Given the description of an element on the screen output the (x, y) to click on. 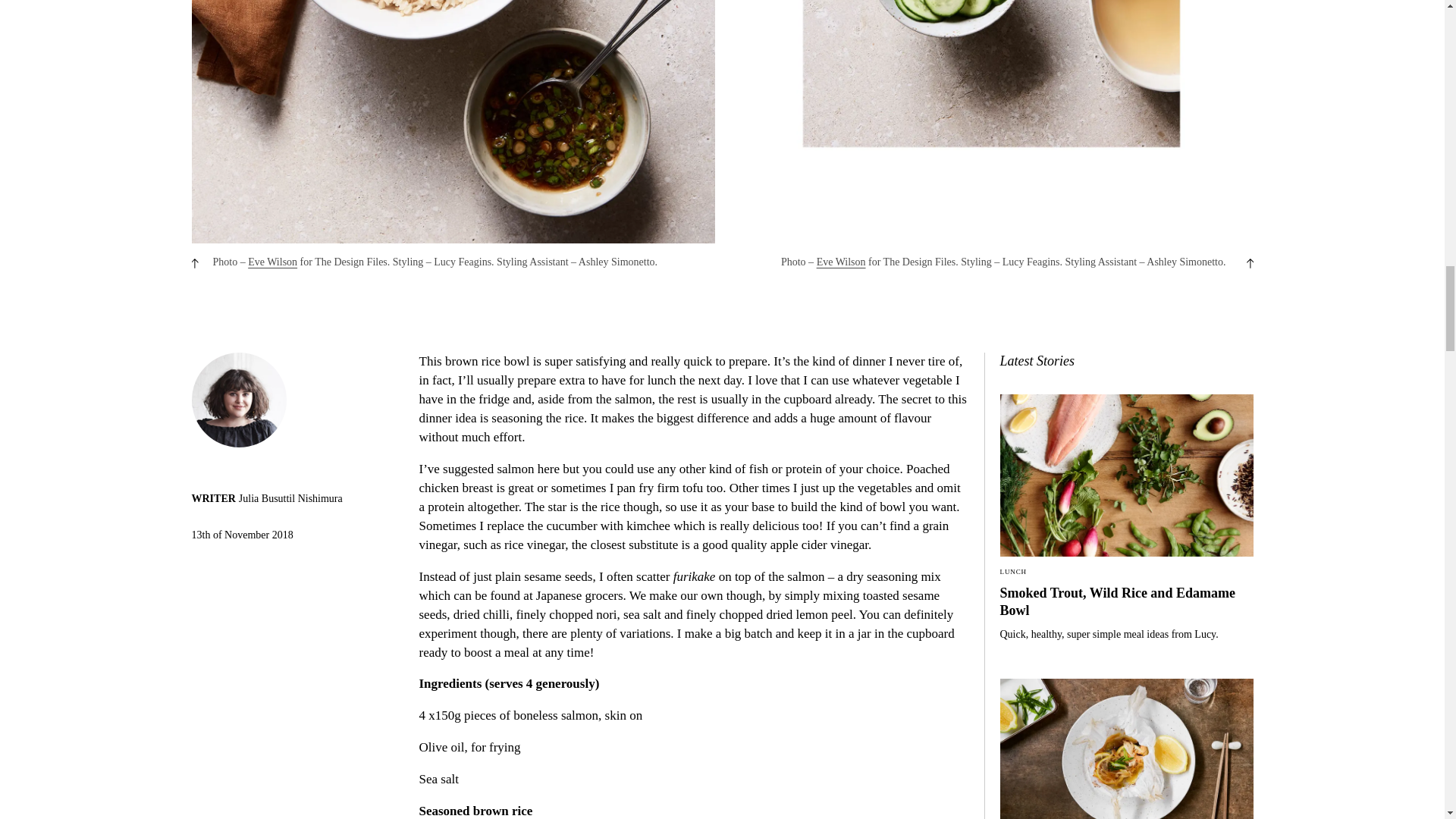
Eve Wilson (272, 261)
Eve Wilson (841, 261)
